Given the description of an element on the screen output the (x, y) to click on. 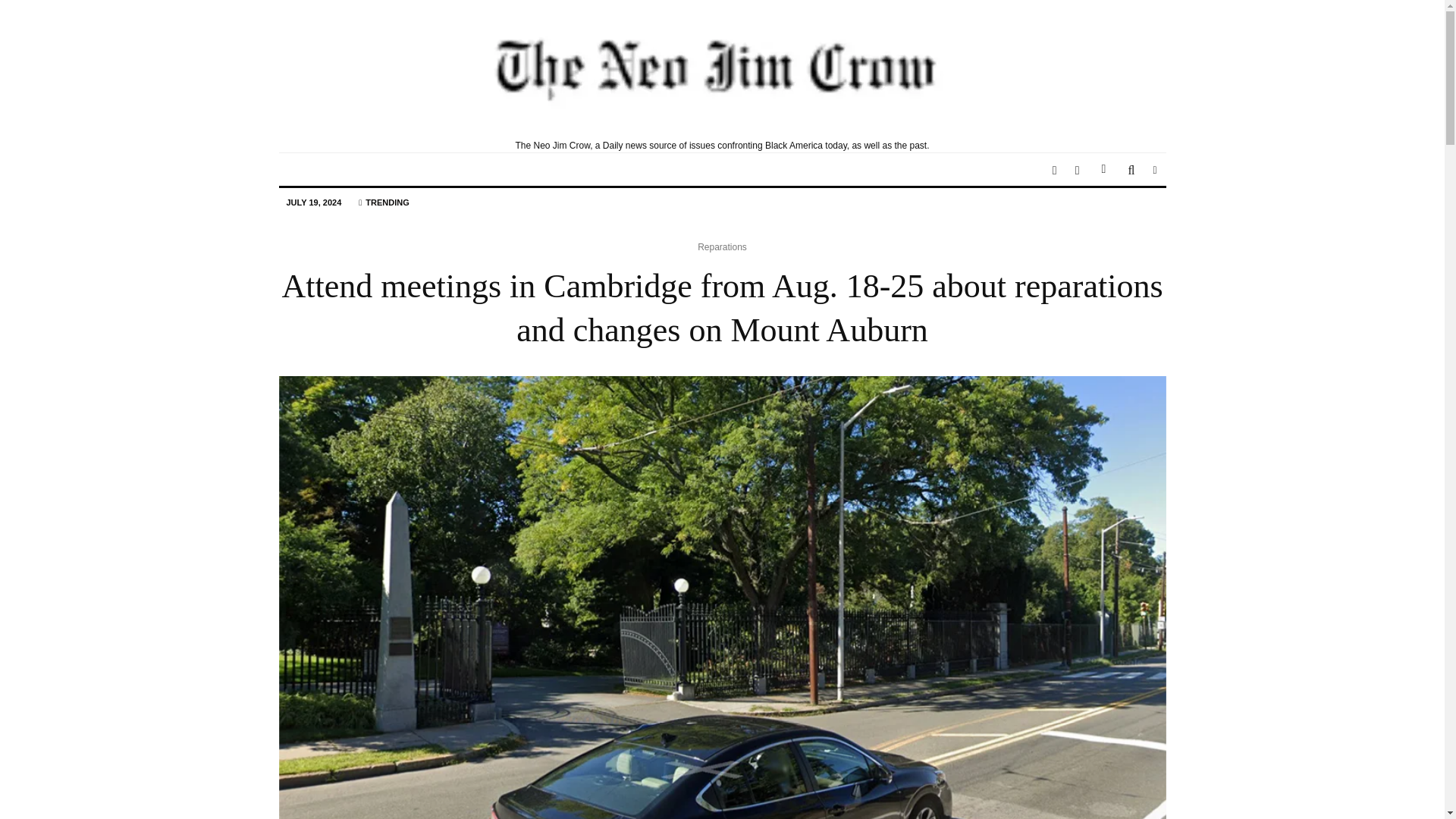
Reparations (721, 247)
TRENDING (384, 202)
